Given the description of an element on the screen output the (x, y) to click on. 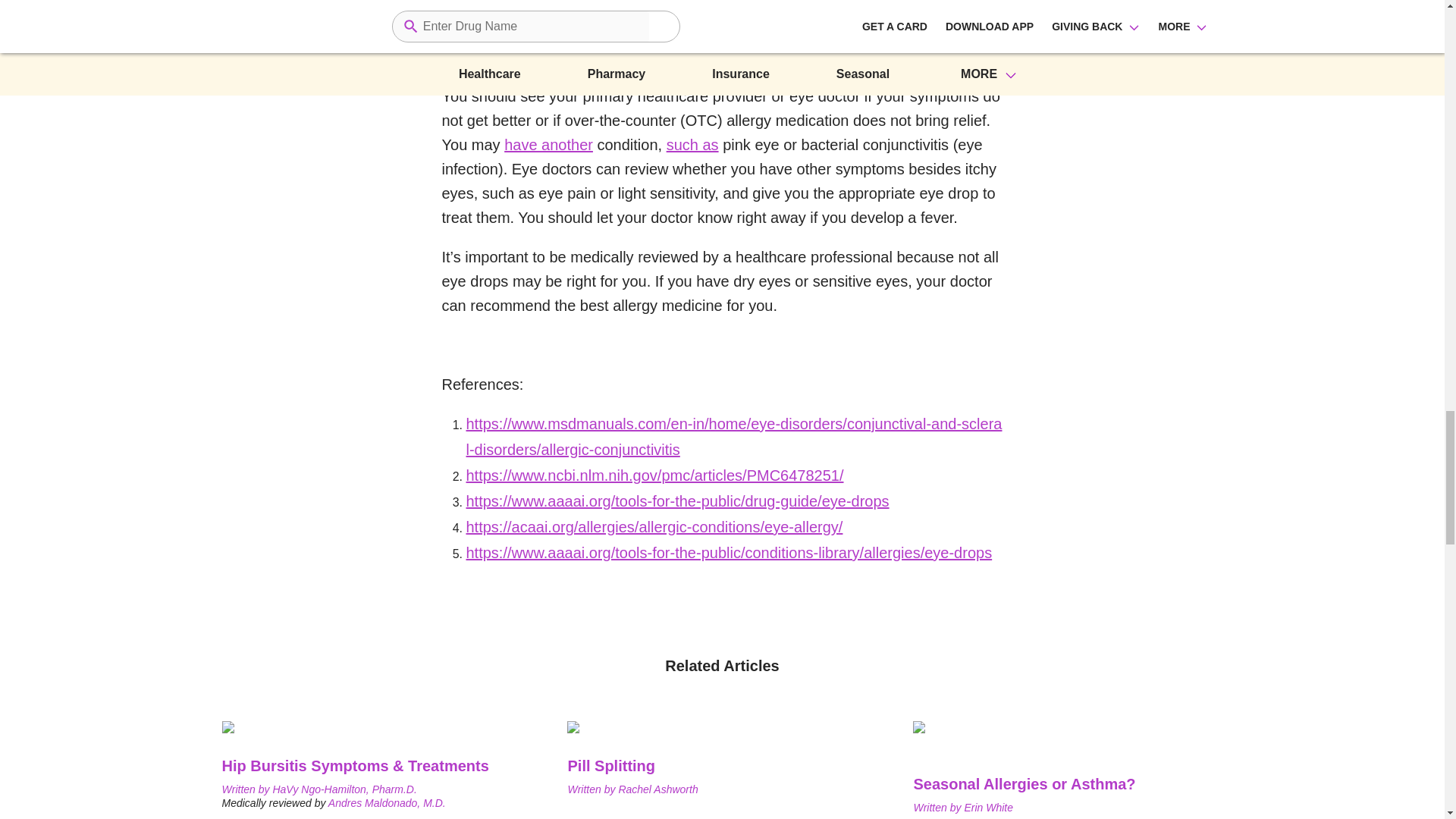
Seasonal Allergies or Asthma? (1067, 748)
Pill Splitting (674, 729)
Pill Splitting (657, 788)
Seasonal Allergies or Asthma? (988, 807)
Seasonal Allergies or Asthma? (1067, 784)
Pill Splitting (674, 765)
